Given the description of an element on the screen output the (x, y) to click on. 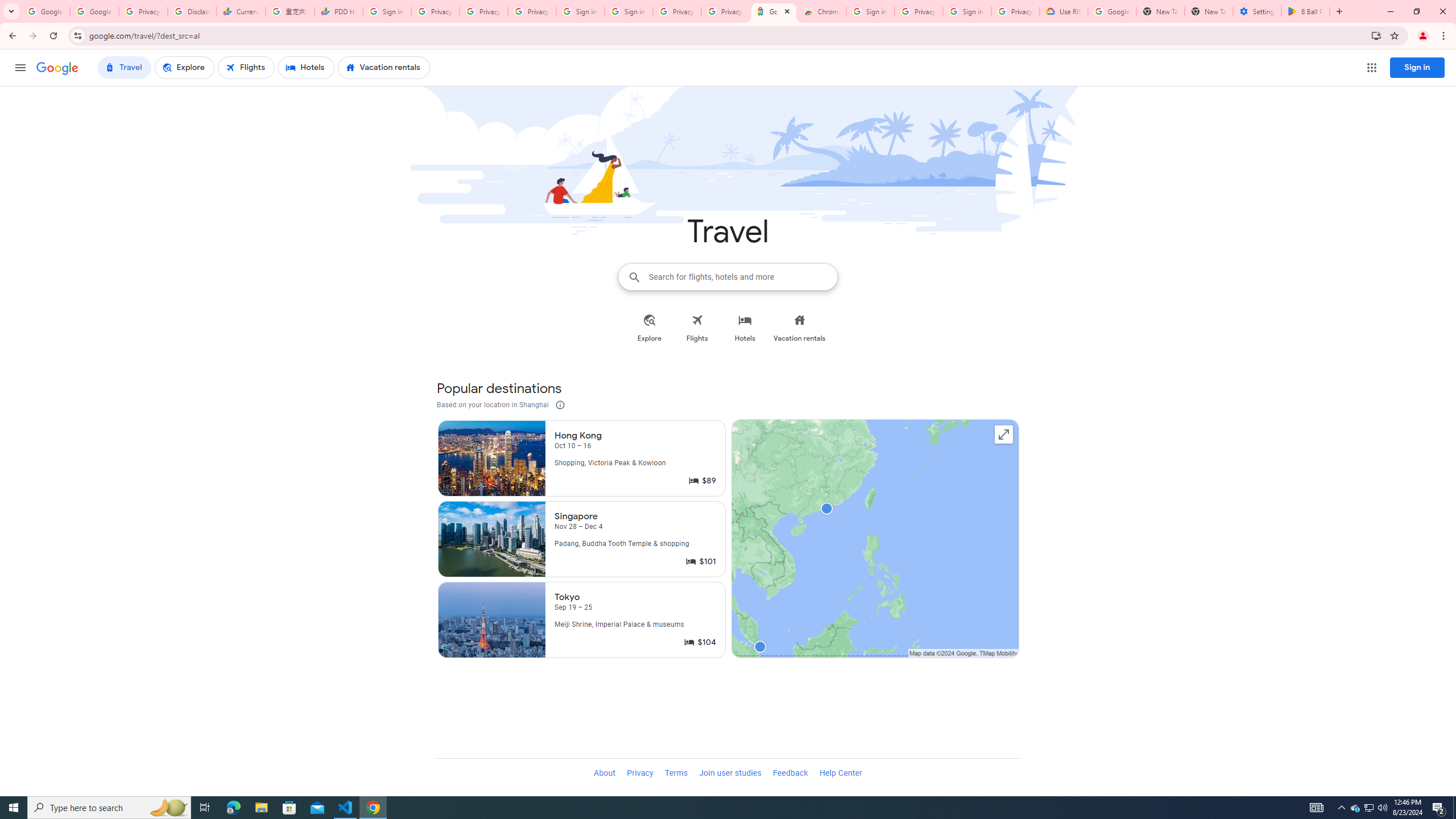
Vacation rentals (798, 328)
Sign in - Google Accounts (870, 11)
Explore destinations (874, 540)
Explore (650, 328)
Sign in - Google Accounts (628, 11)
Sign in - Google Accounts (966, 11)
Join user studies (730, 773)
PDD Holdings Inc - ADR (PDD) Price & News - Google Finance (338, 11)
